Given the description of an element on the screen output the (x, y) to click on. 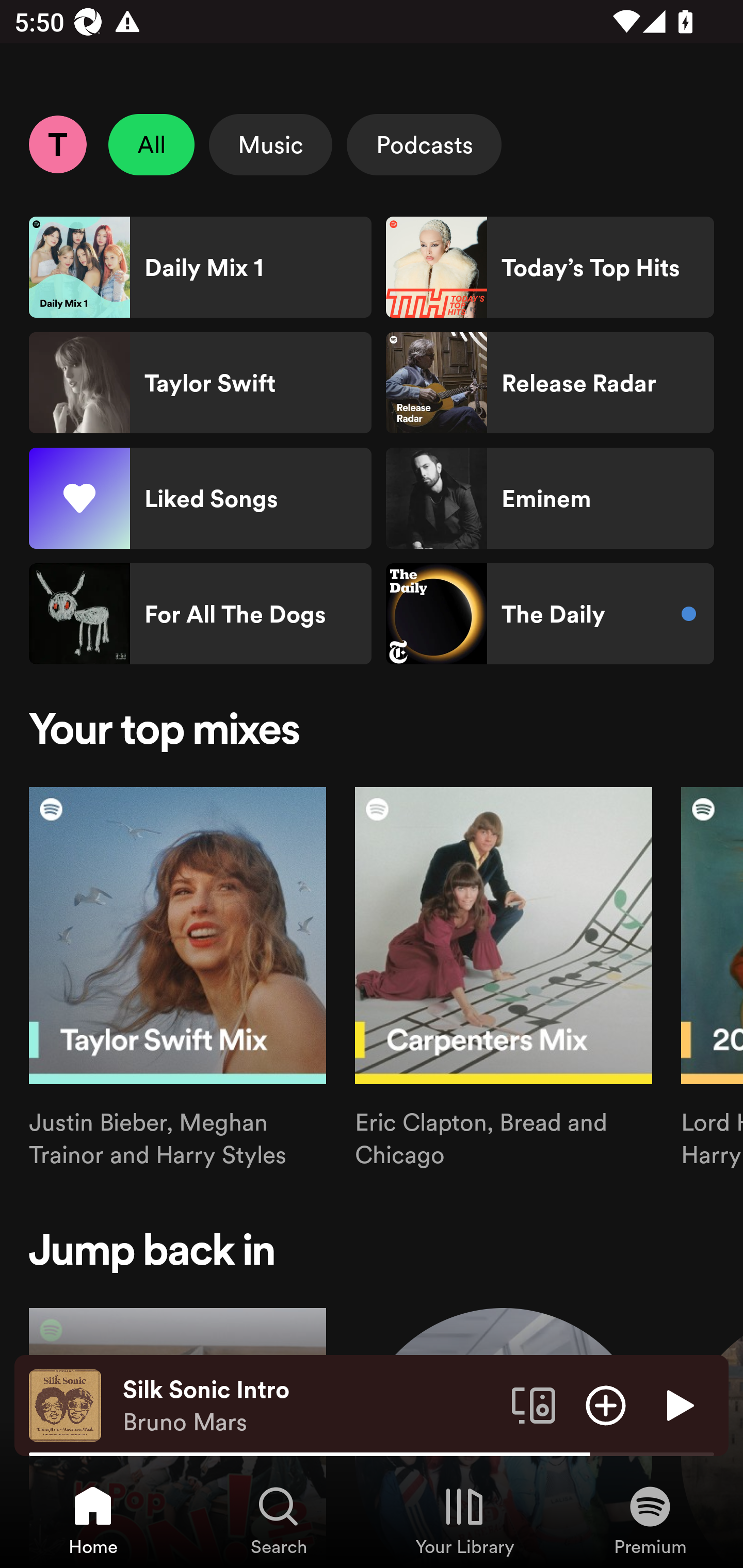
Profile (57, 144)
All Unselect All (151, 144)
Music Select Music (270, 144)
Podcasts Select Podcasts (423, 144)
Daily Mix 1 Shortcut Daily Mix 1 (199, 267)
Today’s Top Hits Shortcut Today’s Top Hits (549, 267)
Taylor Swift Shortcut Taylor Swift (199, 382)
Release Radar Shortcut Release Radar (549, 382)
Liked Songs Shortcut Liked Songs (199, 498)
Eminem Shortcut Eminem (549, 498)
For All The Dogs Shortcut For All The Dogs (199, 613)
The Daily Shortcut The Daily New content (549, 613)
Silk Sonic Intro Bruno Mars (309, 1405)
The cover art of the currently playing track (64, 1404)
Connect to a device. Opens the devices menu (533, 1404)
Add item (605, 1404)
Play (677, 1404)
Home, Tab 1 of 4 Home Home (92, 1519)
Search, Tab 2 of 4 Search Search (278, 1519)
Your Library, Tab 3 of 4 Your Library Your Library (464, 1519)
Premium, Tab 4 of 4 Premium Premium (650, 1519)
